Given the description of an element on the screen output the (x, y) to click on. 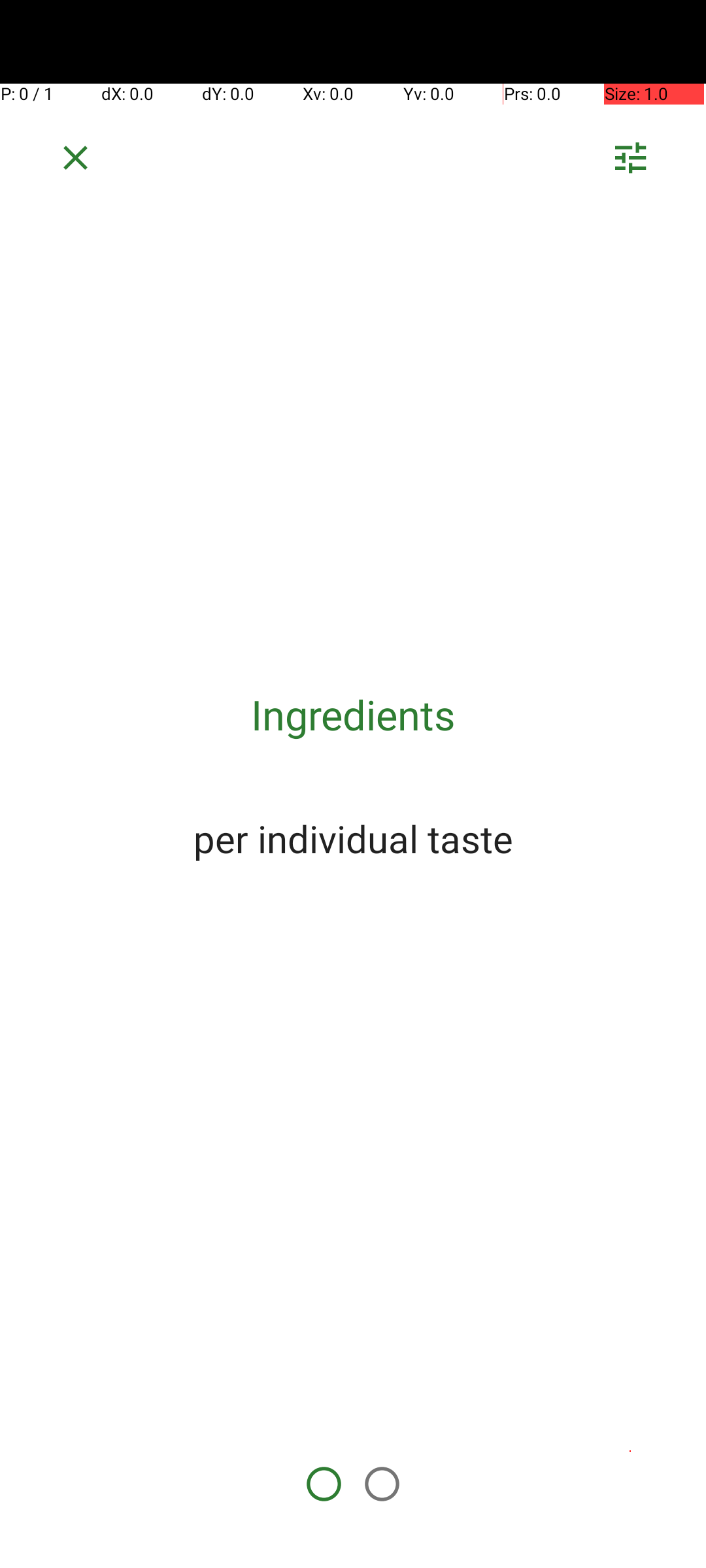
per individual taste Element type: android.widget.TextView (353, 838)
